Given the description of an element on the screen output the (x, y) to click on. 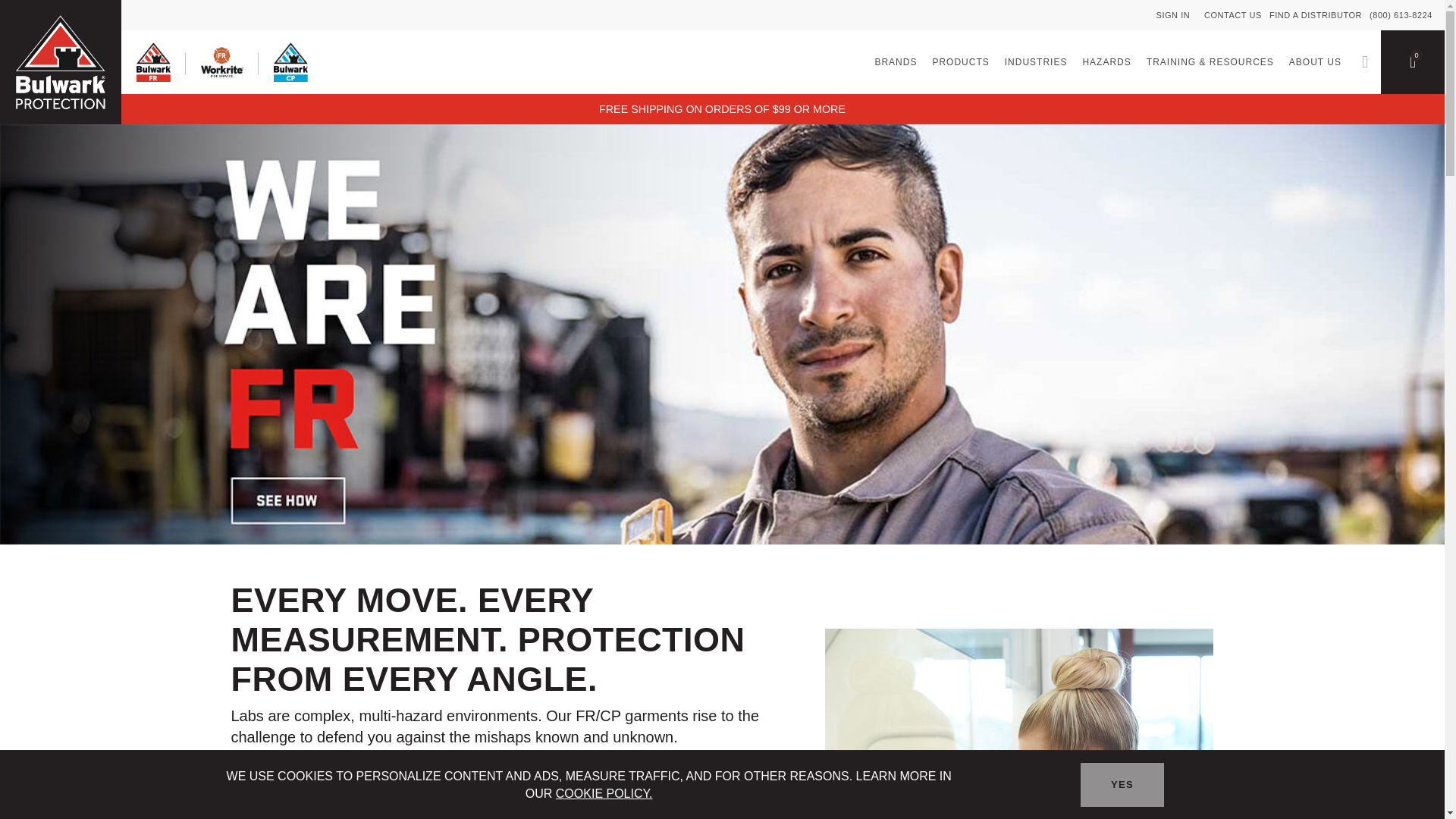
PRODUCTS (959, 62)
SIGN IN (1175, 14)
CONTACT US (1233, 14)
FIND A DISTRIBUTOR (1315, 14)
BRANDS (895, 62)
